Given the description of an element on the screen output the (x, y) to click on. 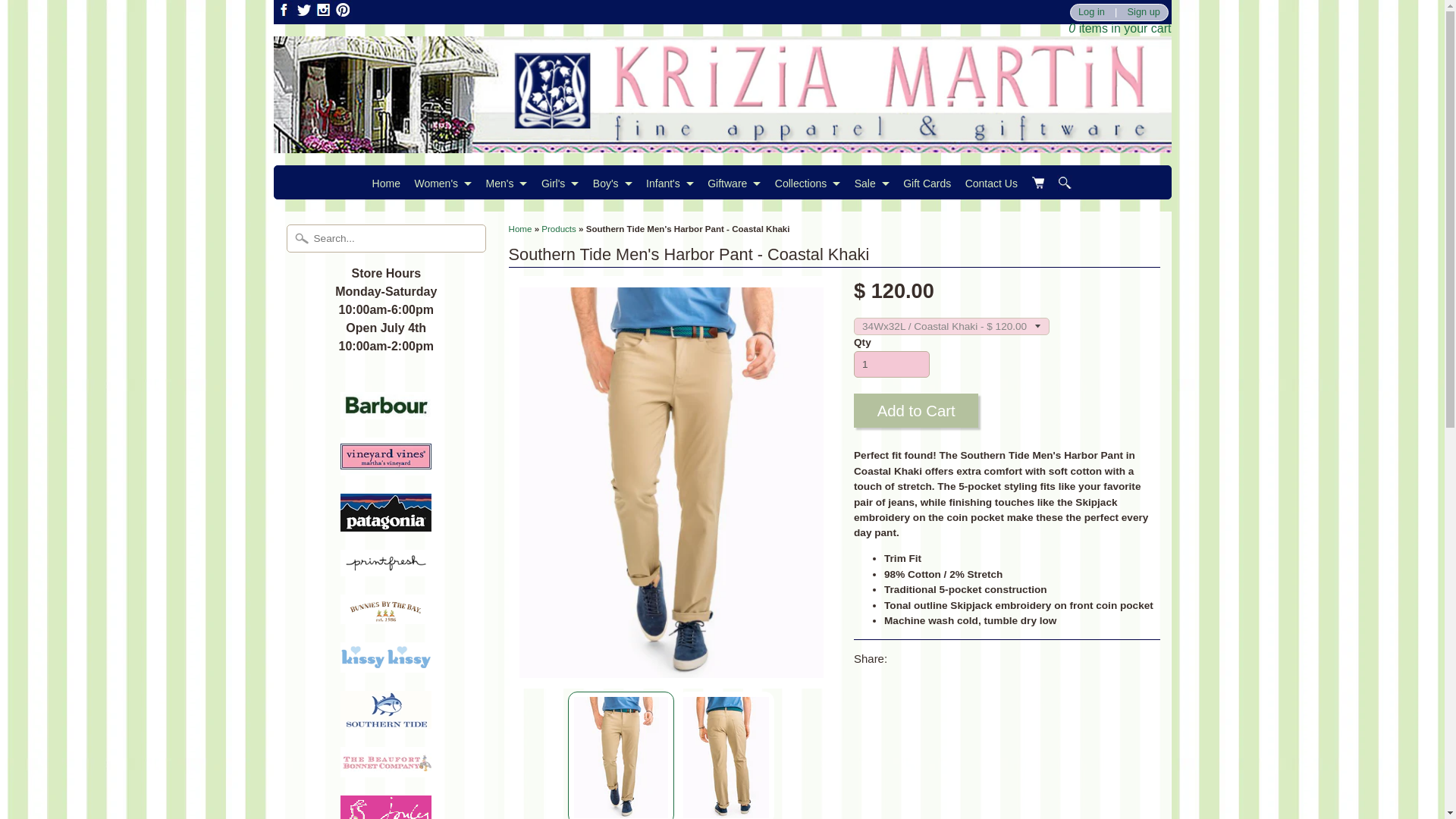
0 items in your cart (1119, 28)
Log in (1091, 12)
Men's (506, 183)
1 (891, 364)
Krizia Martin (721, 143)
Sign up (1143, 12)
Girl's (559, 183)
Women's (443, 183)
Home (386, 183)
